Given the description of an element on the screen output the (x, y) to click on. 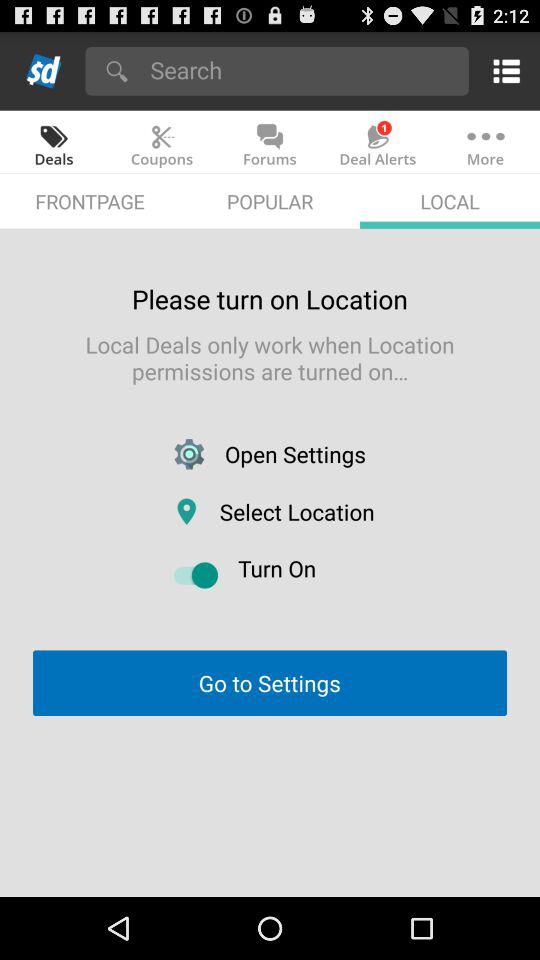
click icon next to local item (270, 200)
